Given the description of an element on the screen output the (x, y) to click on. 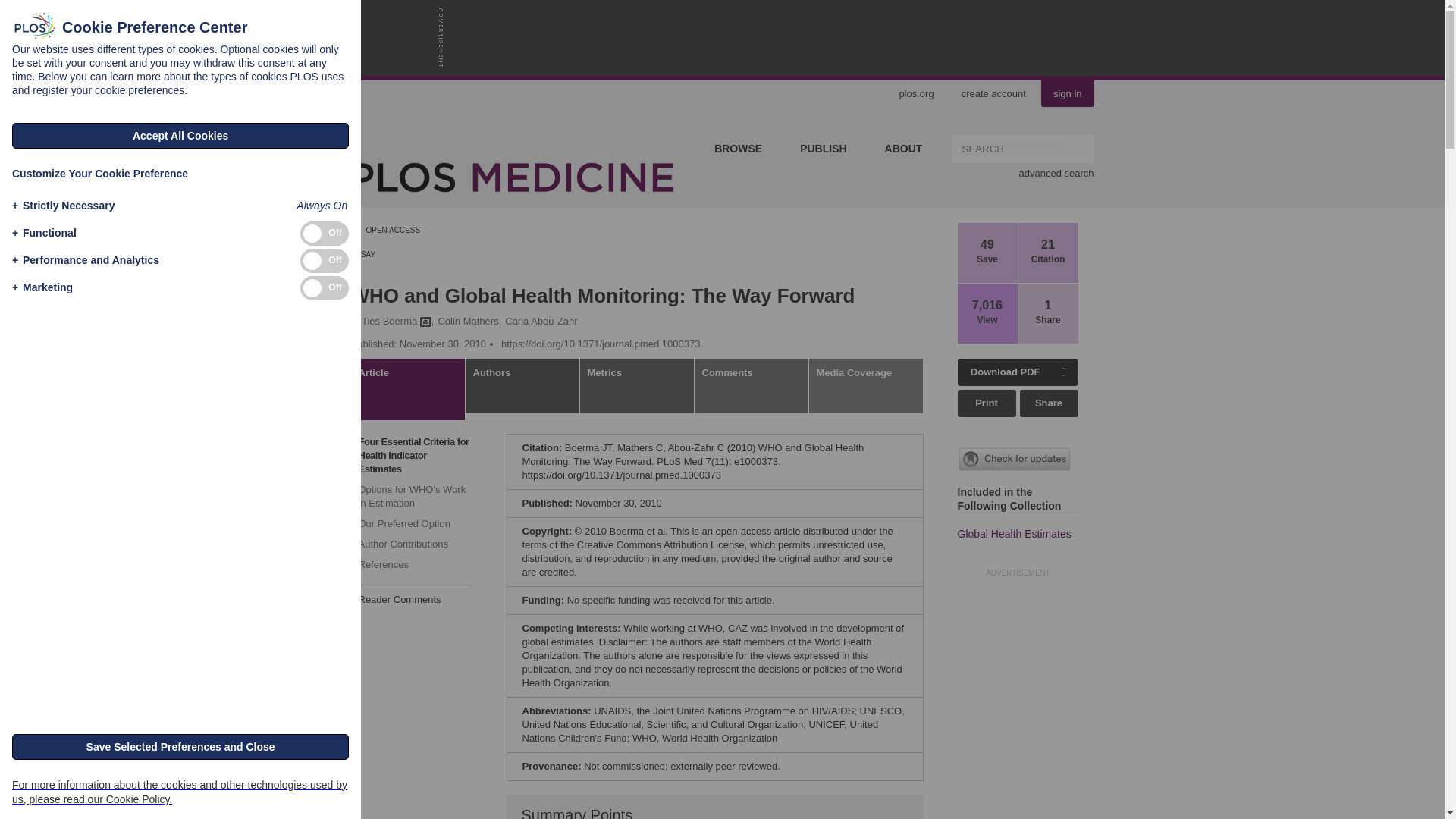
J. Ties Boerma , (393, 321)
Our Preferred Option (410, 523)
Carla Abou-Zahr (540, 321)
3rd party ad content (727, 38)
Four Essential Criteria for Health Indicator Estimates (410, 455)
PLOS Medicine (635, 177)
Save (986, 259)
Media Coverage (865, 385)
Reader Comments (395, 599)
Authors (522, 385)
Article (407, 389)
Comments (751, 385)
Metrics (636, 385)
Citation (1047, 259)
PUBLISH (822, 148)
